Given the description of an element on the screen output the (x, y) to click on. 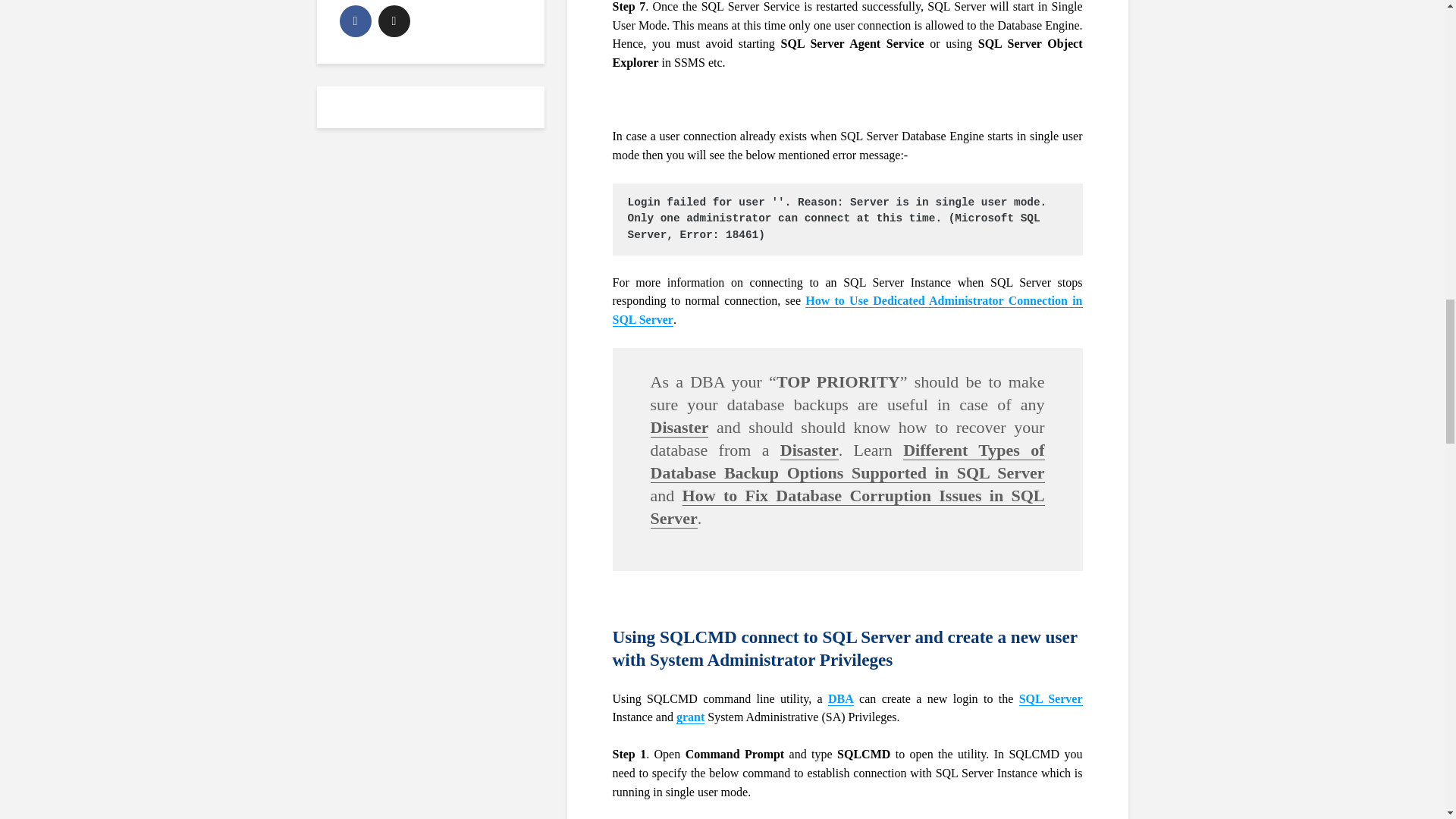
Facebook (355, 20)
Twitter (393, 20)
